Given the description of an element on the screen output the (x, y) to click on. 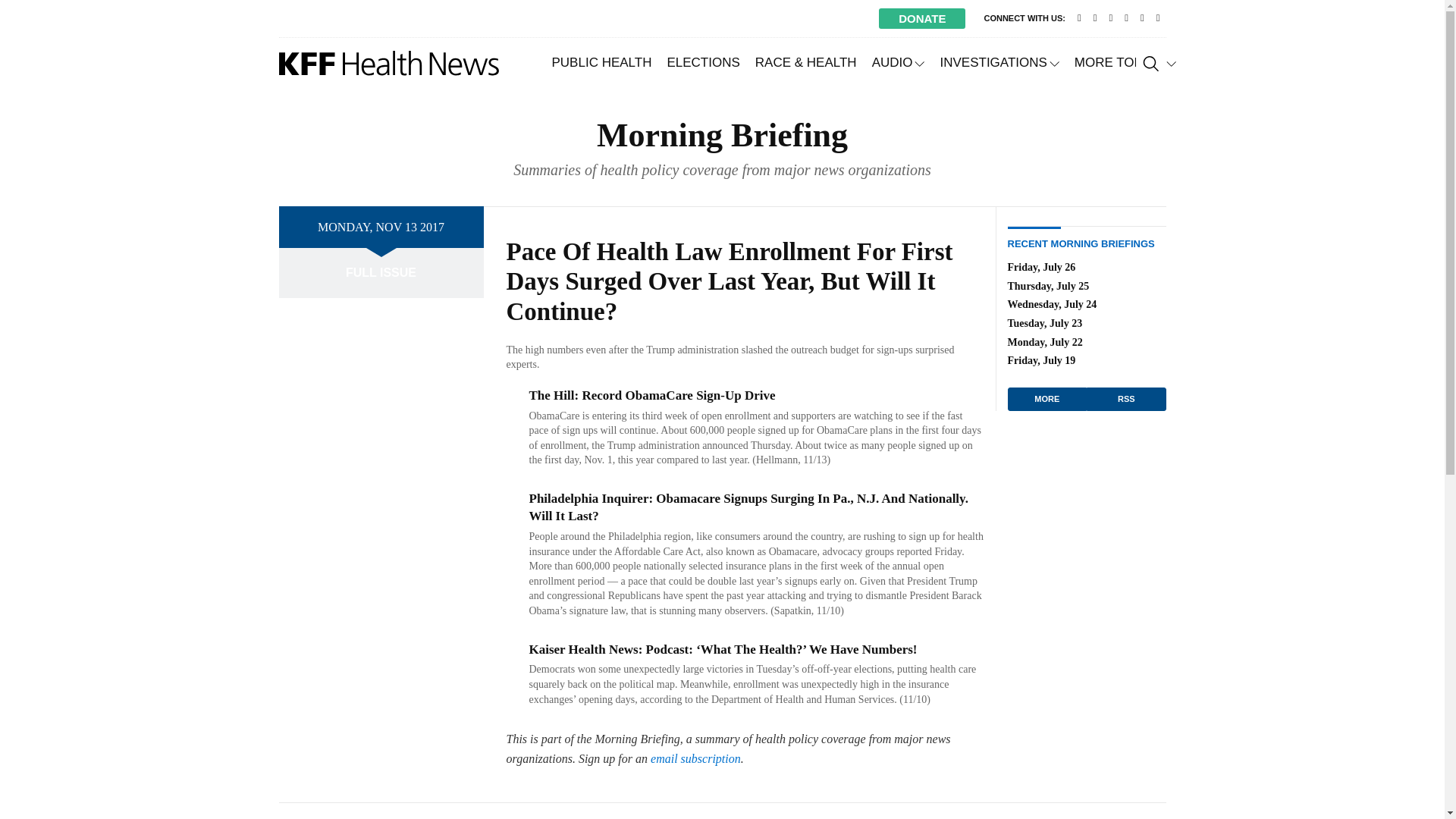
AUDIO (898, 61)
DONATE (922, 18)
KFF Health News (389, 63)
PUBLIC HEALTH (601, 61)
MORE TOPICS (1125, 61)
ELECTIONS (702, 61)
INVESTIGATIONS (998, 61)
